Given the description of an element on the screen output the (x, y) to click on. 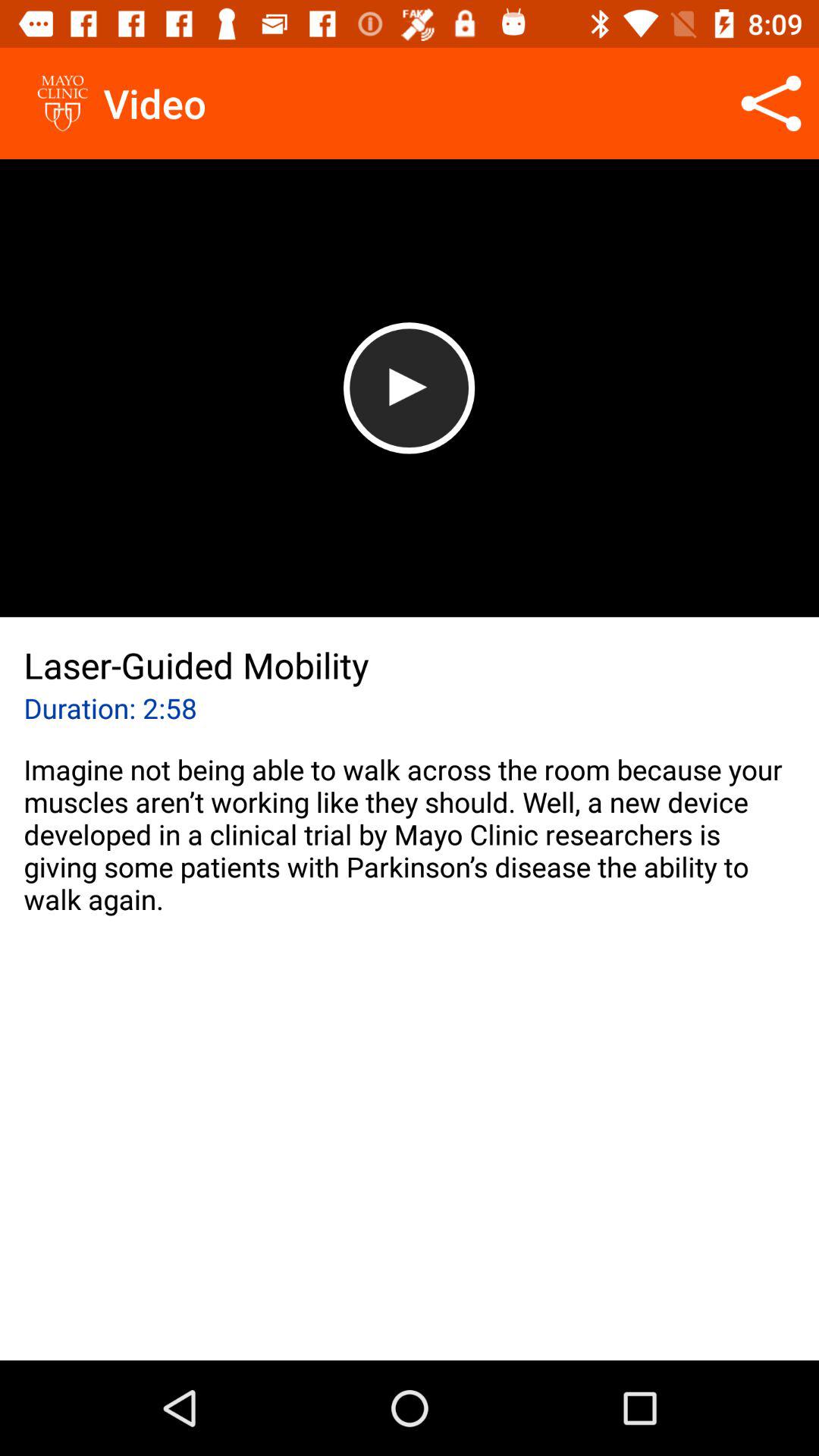
select the icon to the right of video item (771, 103)
